Given the description of an element on the screen output the (x, y) to click on. 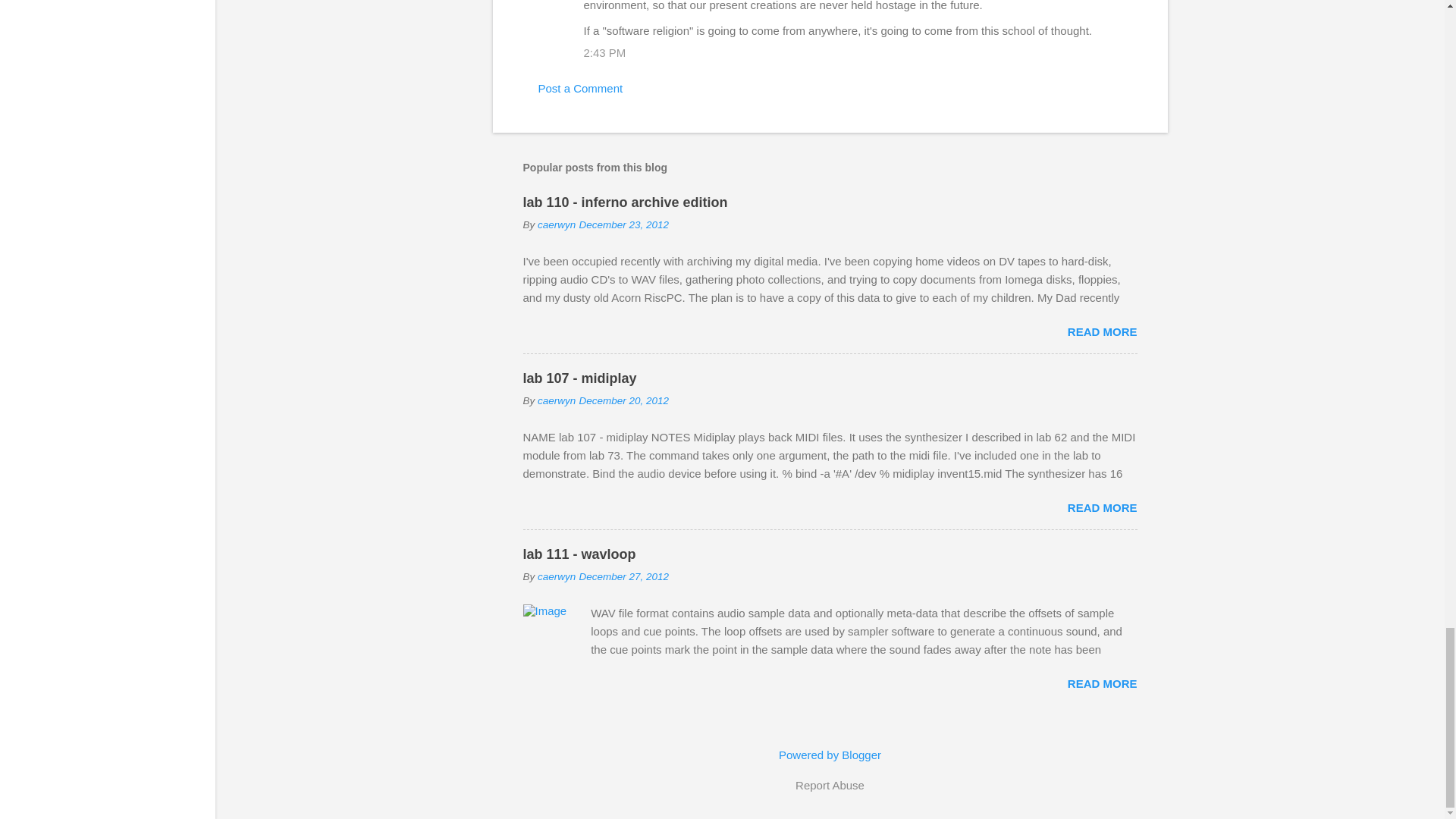
caerwyn (556, 400)
lab 110 - inferno archive edition (625, 201)
December 23, 2012 (623, 224)
Post a Comment (580, 88)
2:43 PM (604, 51)
READ MORE (1102, 507)
READ MORE (1102, 331)
caerwyn (556, 224)
December 20, 2012 (623, 400)
lab 111 - wavloop (579, 554)
lab 107 - midiplay (579, 378)
